Given the description of an element on the screen output the (x, y) to click on. 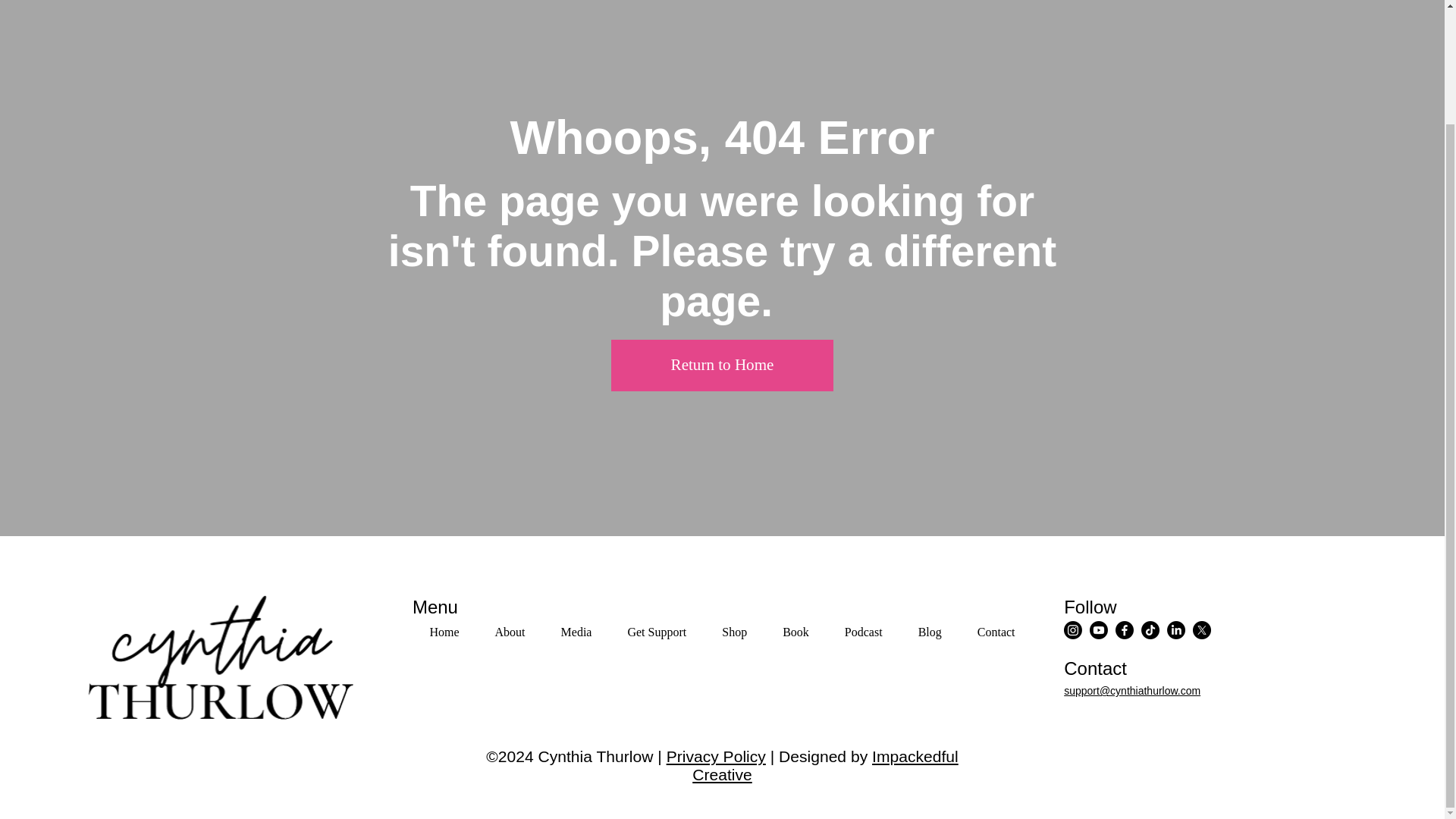
Return to Home (721, 365)
About (509, 631)
Privacy Policy (715, 755)
Media (575, 631)
Home (444, 631)
Impackedful Creative (722, 631)
